Given the description of an element on the screen output the (x, y) to click on. 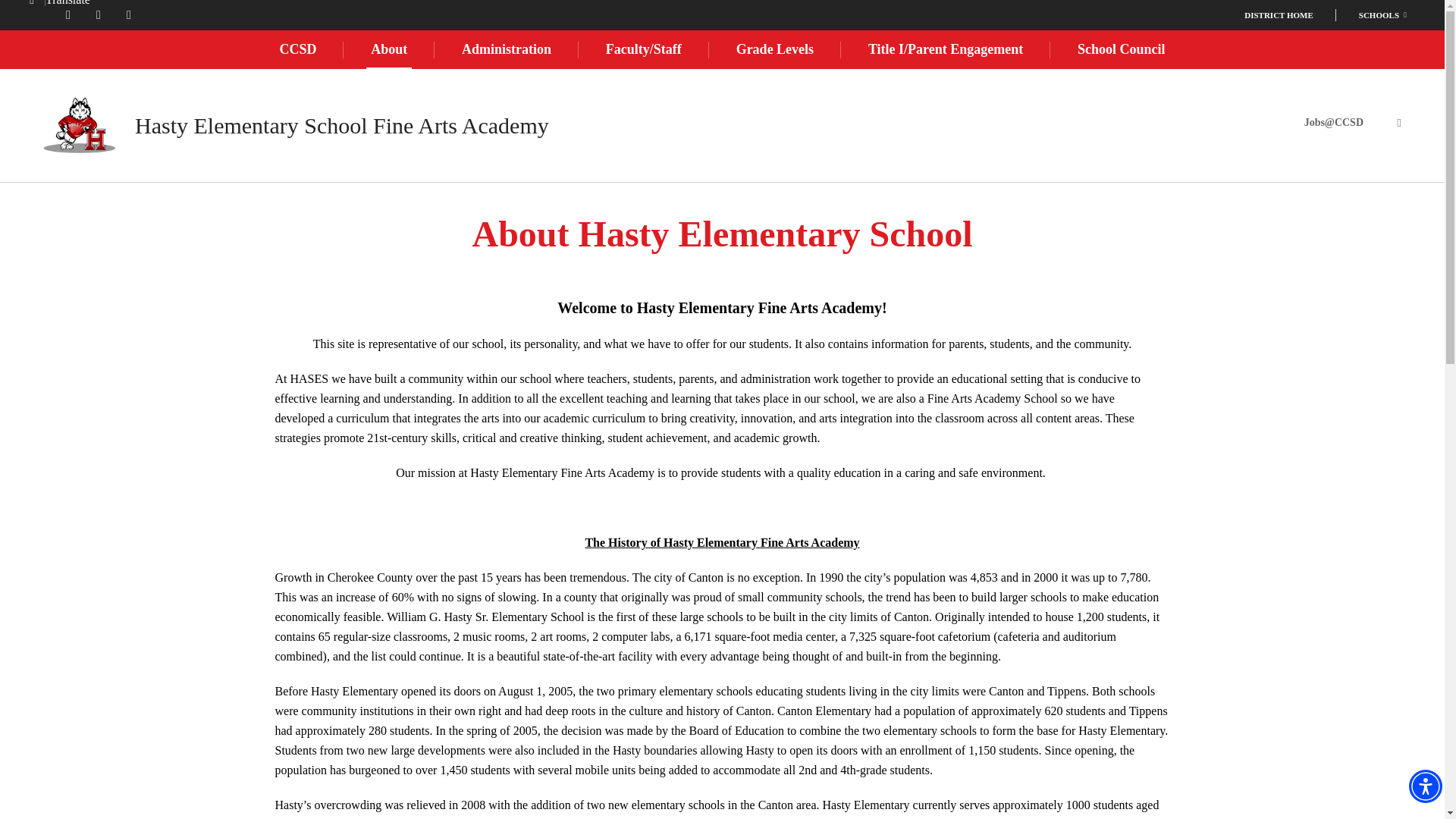
Facebook (97, 15)
LinkedIn (67, 15)
Accessibility Menu (1425, 786)
Twitter (128, 15)
DISTRICT HOME (1278, 15)
